Given the description of an element on the screen output the (x, y) to click on. 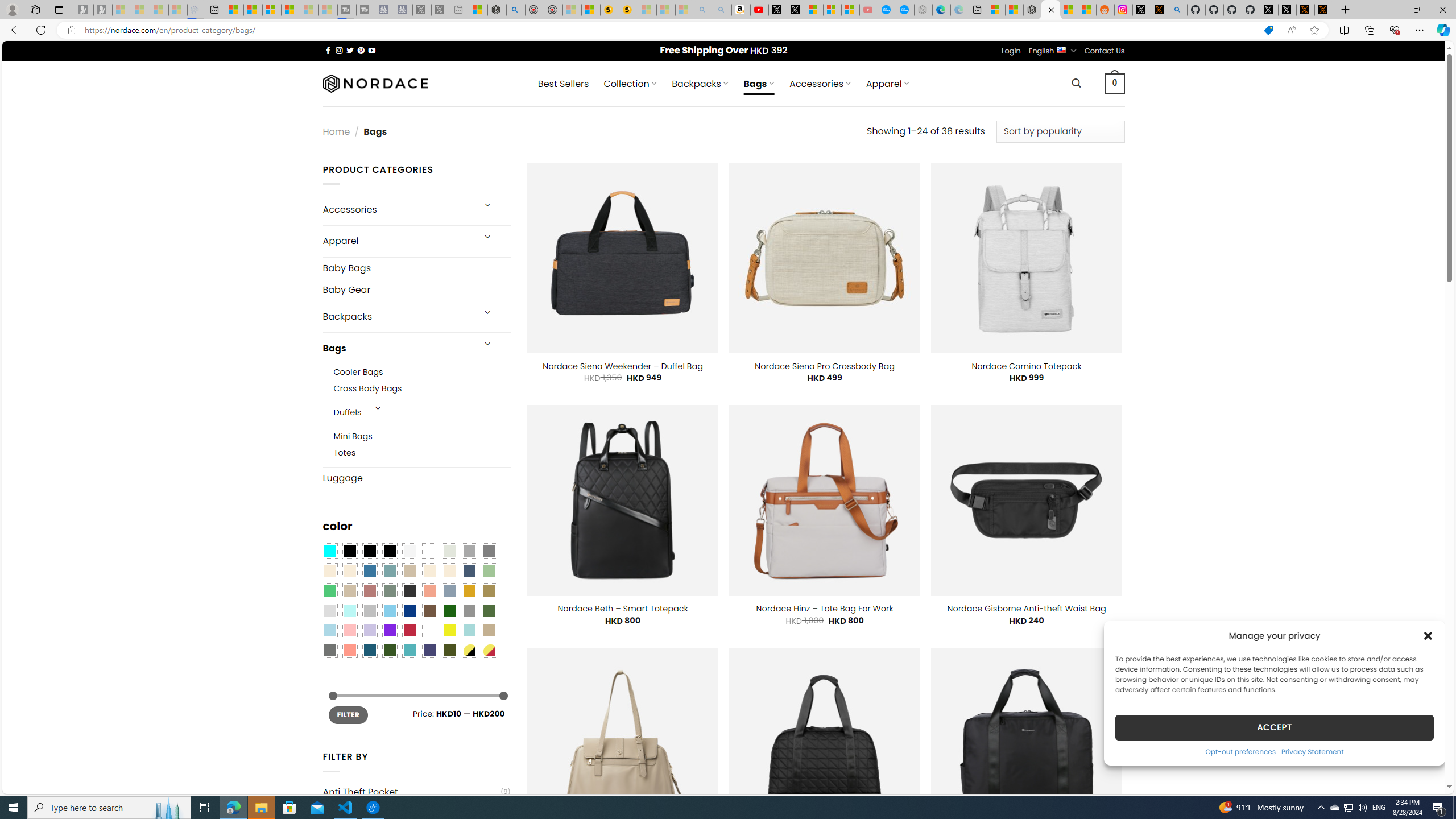
Follow on Pinterest (360, 49)
Microsoft account | Microsoft Account Privacy Settings (996, 9)
Address and search bar (669, 29)
Blue Sage (389, 570)
Gold (468, 590)
Shanghai, China Weather trends | Microsoft Weather (1086, 9)
Forest (389, 649)
Silver (369, 610)
Red (408, 630)
Hale Navy (468, 570)
Teal (408, 649)
Collections (1369, 29)
